Given the description of an element on the screen output the (x, y) to click on. 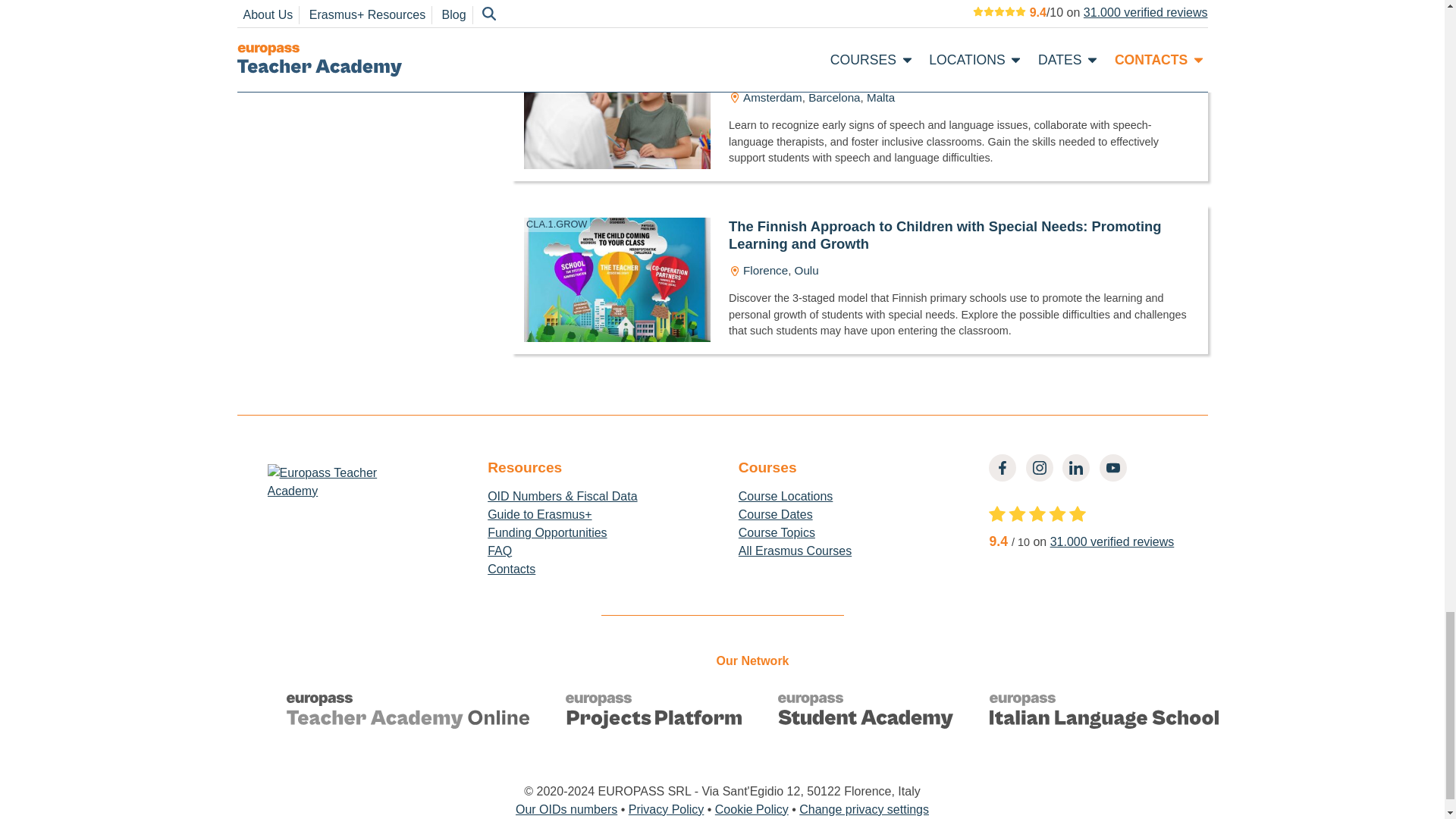
Europass Student Academy (865, 713)
Europass Italian Language School (1104, 713)
Europass Projects Platform (653, 713)
Europass Teacher Academy Online (407, 713)
